Given the description of an element on the screen output the (x, y) to click on. 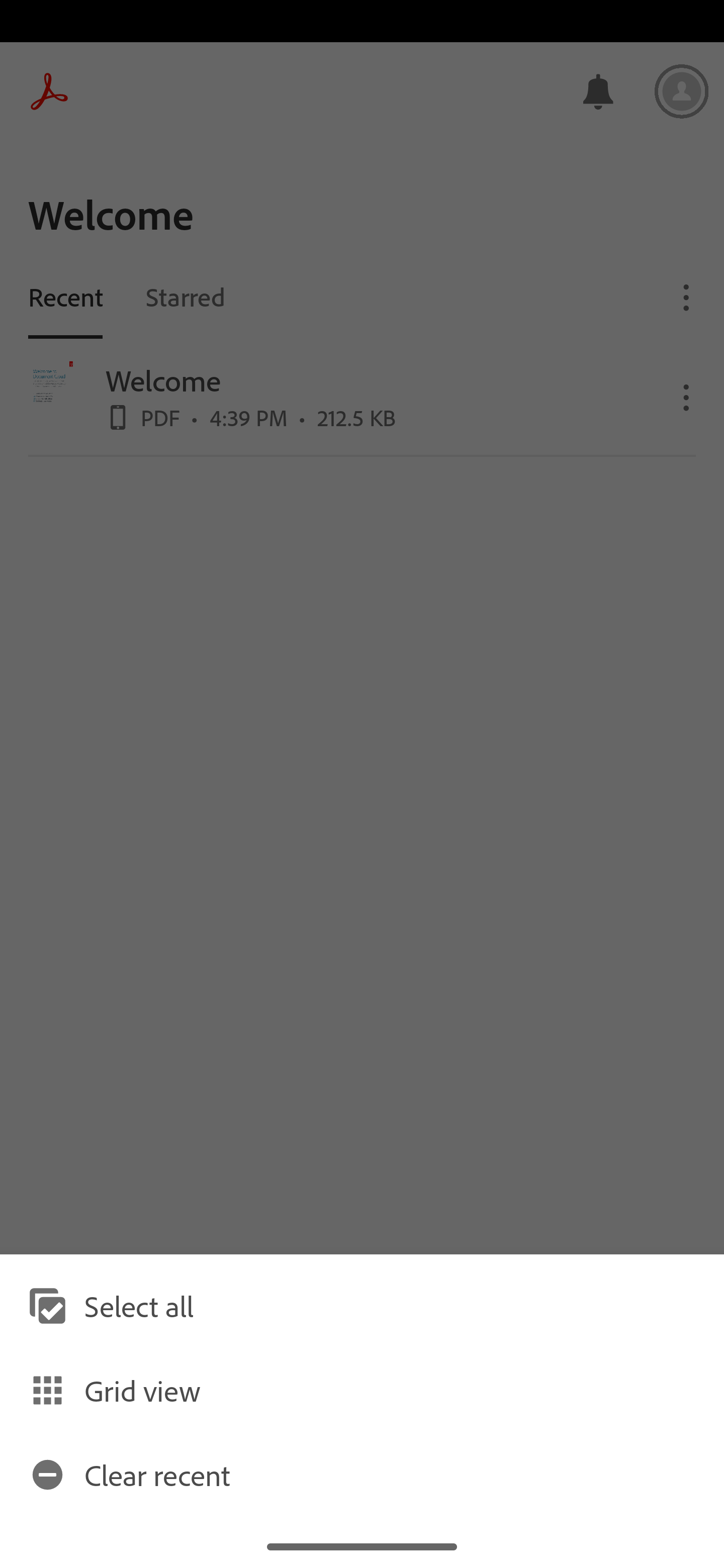
Select all (362, 1305)
Grid view (362, 1389)
Clear recent (362, 1473)
